Given the description of an element on the screen output the (x, y) to click on. 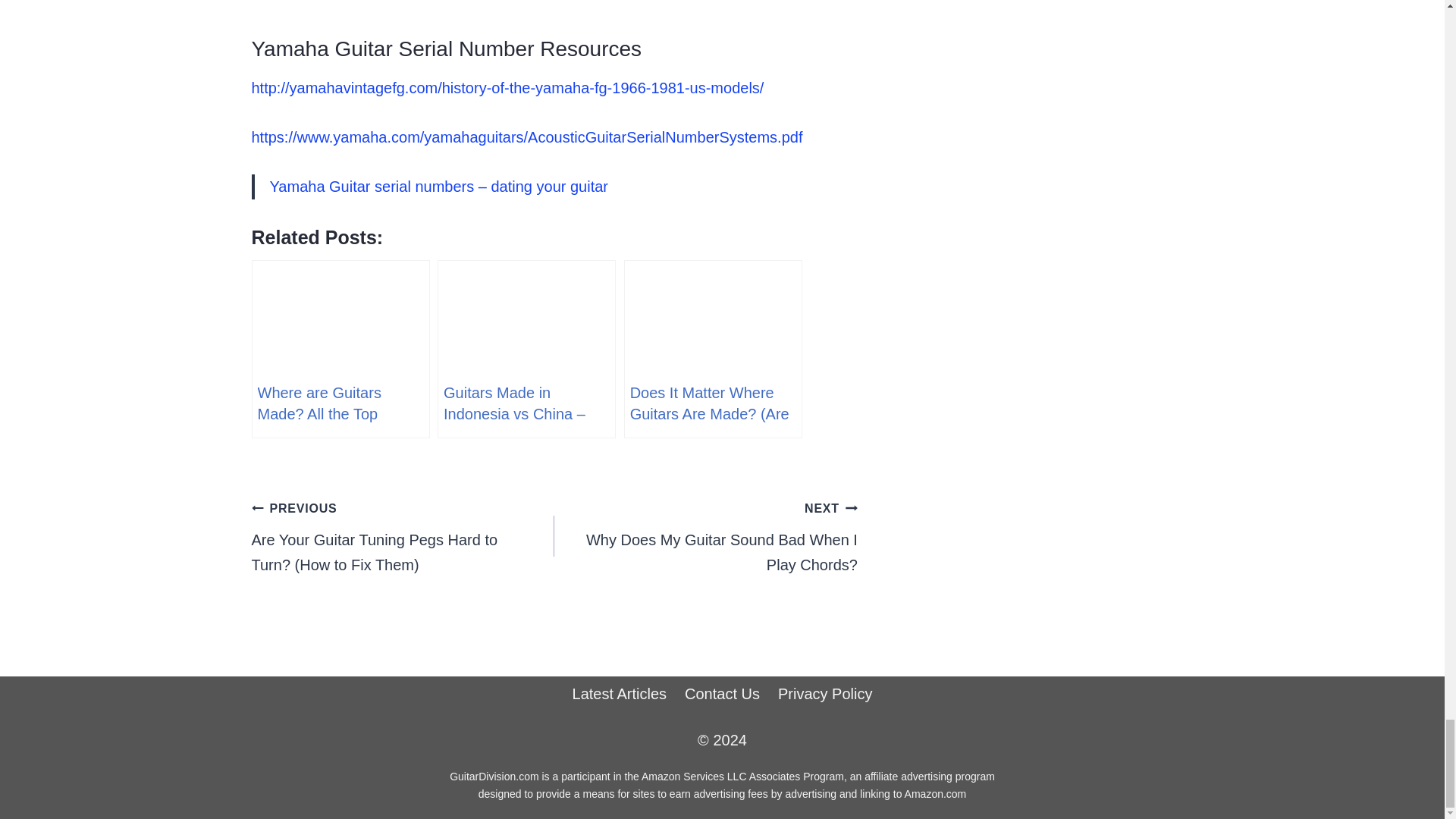
Where are Guitars Made? All the Top Brands (340, 349)
Where are Guitars Made? All the Top Brands (340, 349)
Privacy Policy (824, 694)
Contact Us (721, 694)
Latest Articles (620, 694)
